Given the description of an element on the screen output the (x, y) to click on. 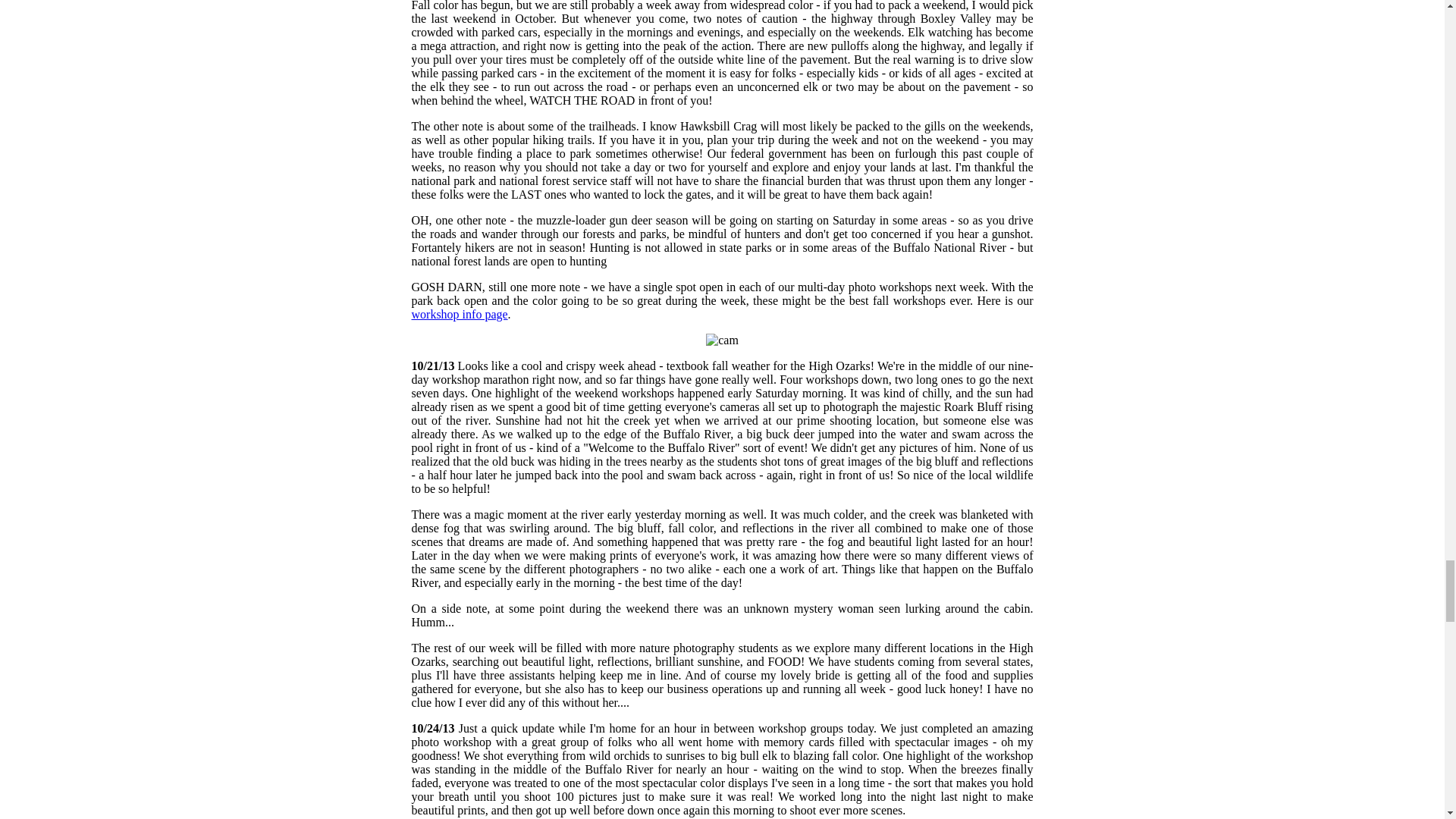
workshop info page (458, 314)
